Given the description of an element on the screen output the (x, y) to click on. 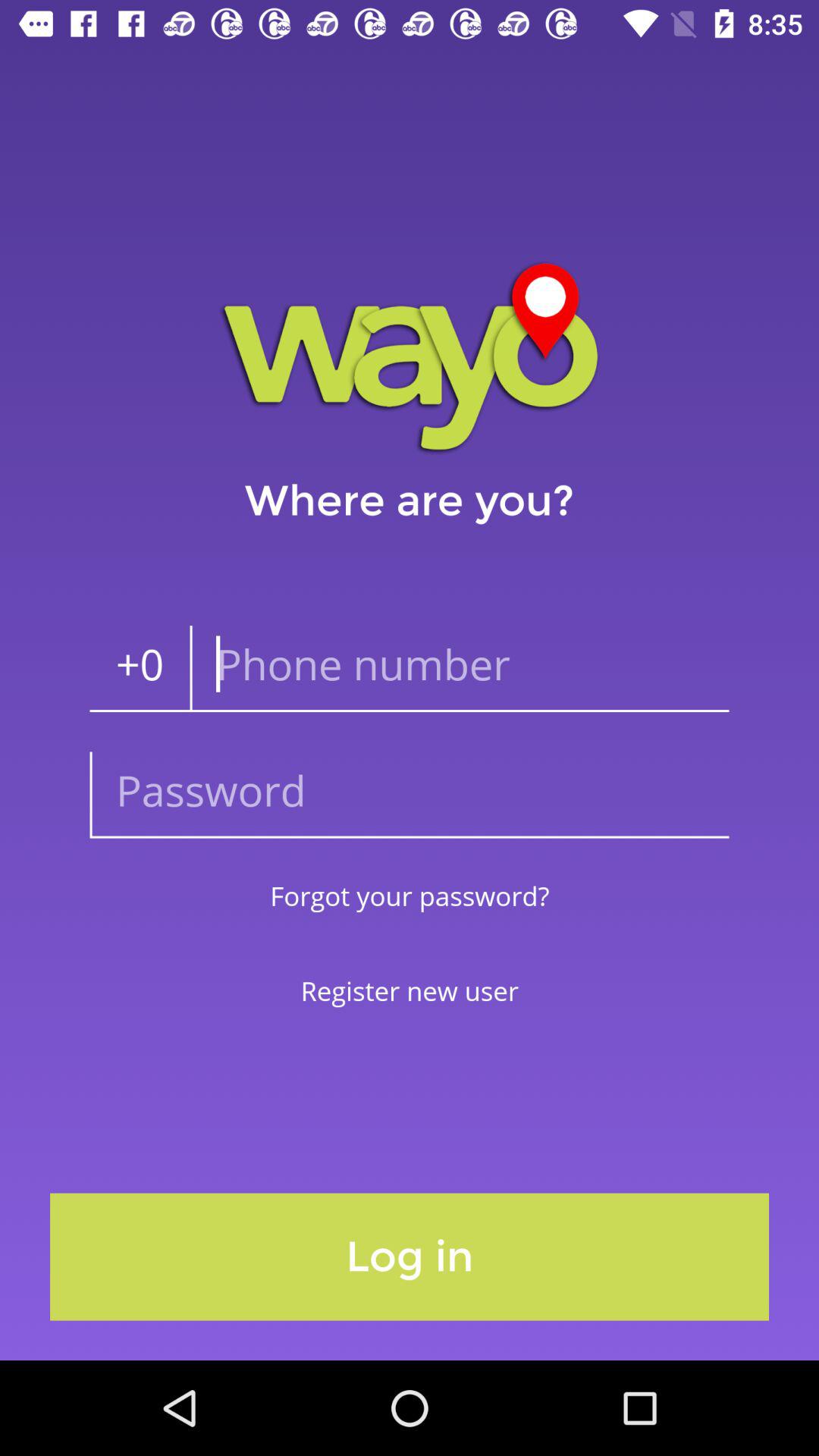
turn off the icon above log in icon (409, 990)
